Given the description of an element on the screen output the (x, y) to click on. 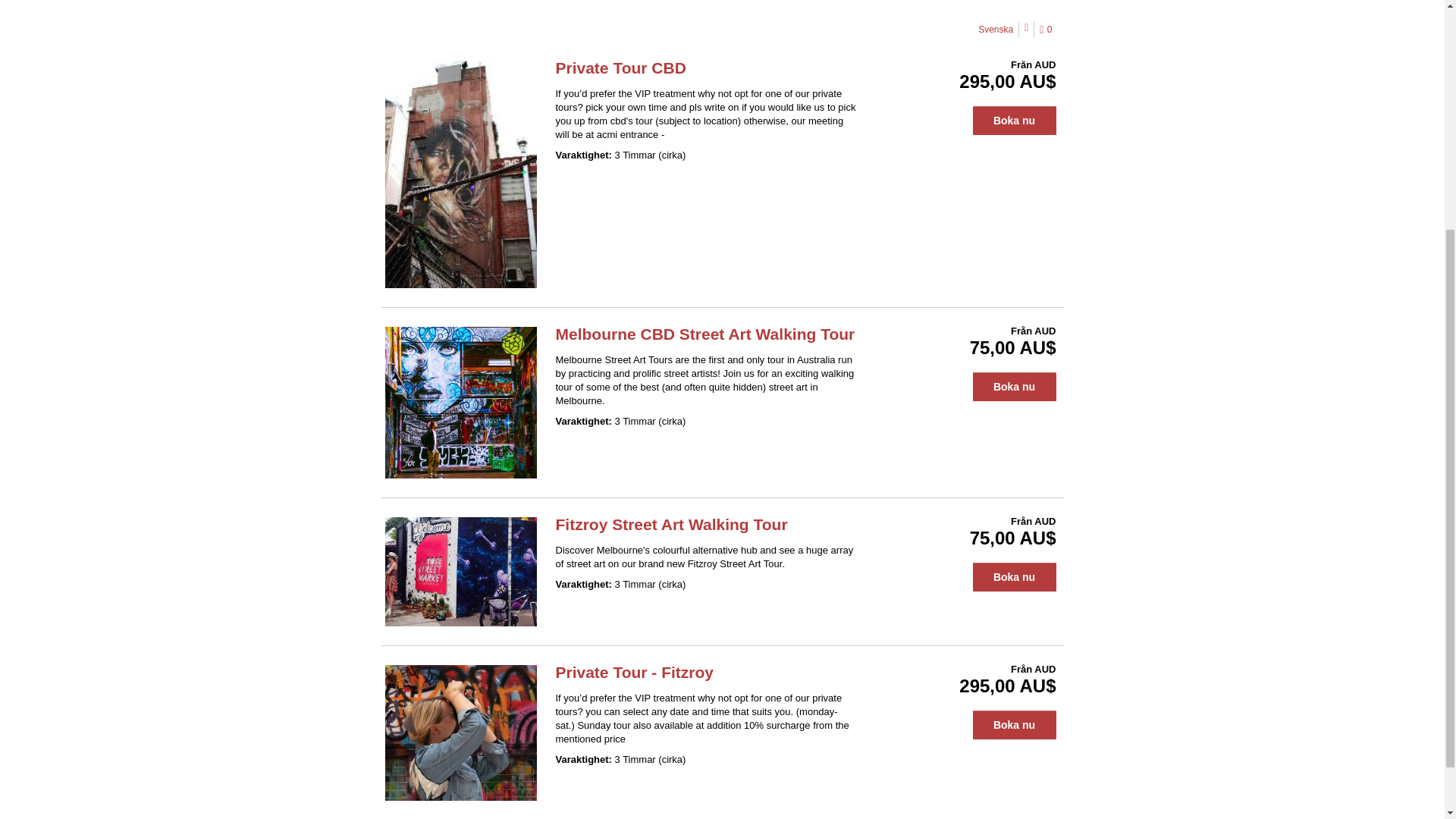
Melbourne CBD Street Art Walking Tour (704, 334)
What's Popular this Month (447, 13)
Gift Vouchers (822, 13)
Private Tour CBD (619, 67)
Boka nu (1013, 120)
Kids Holiday Workshops (625, 13)
Tours (538, 13)
